Given the description of an element on the screen output the (x, y) to click on. 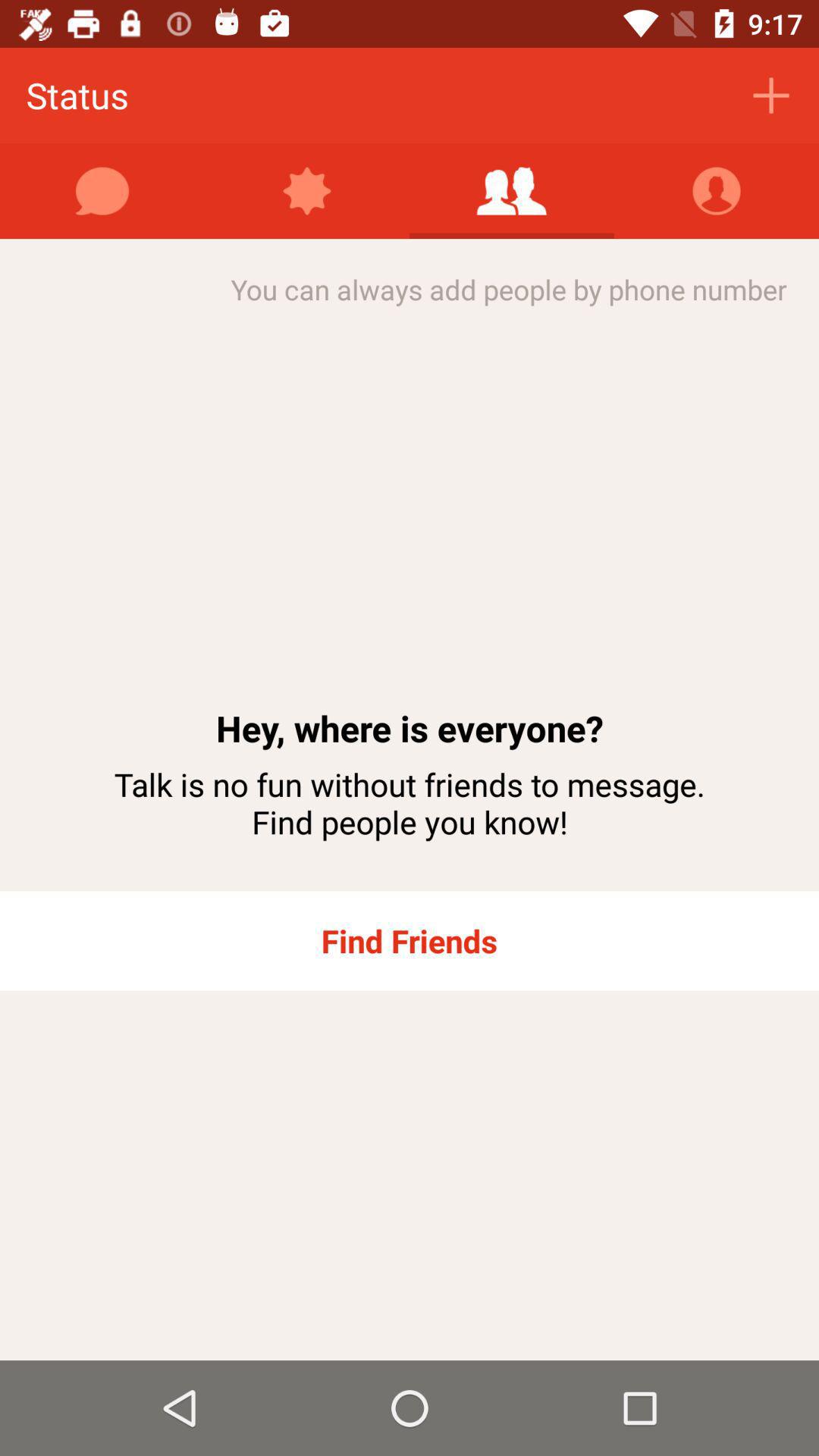
send a message (102, 190)
